Given the description of an element on the screen output the (x, y) to click on. 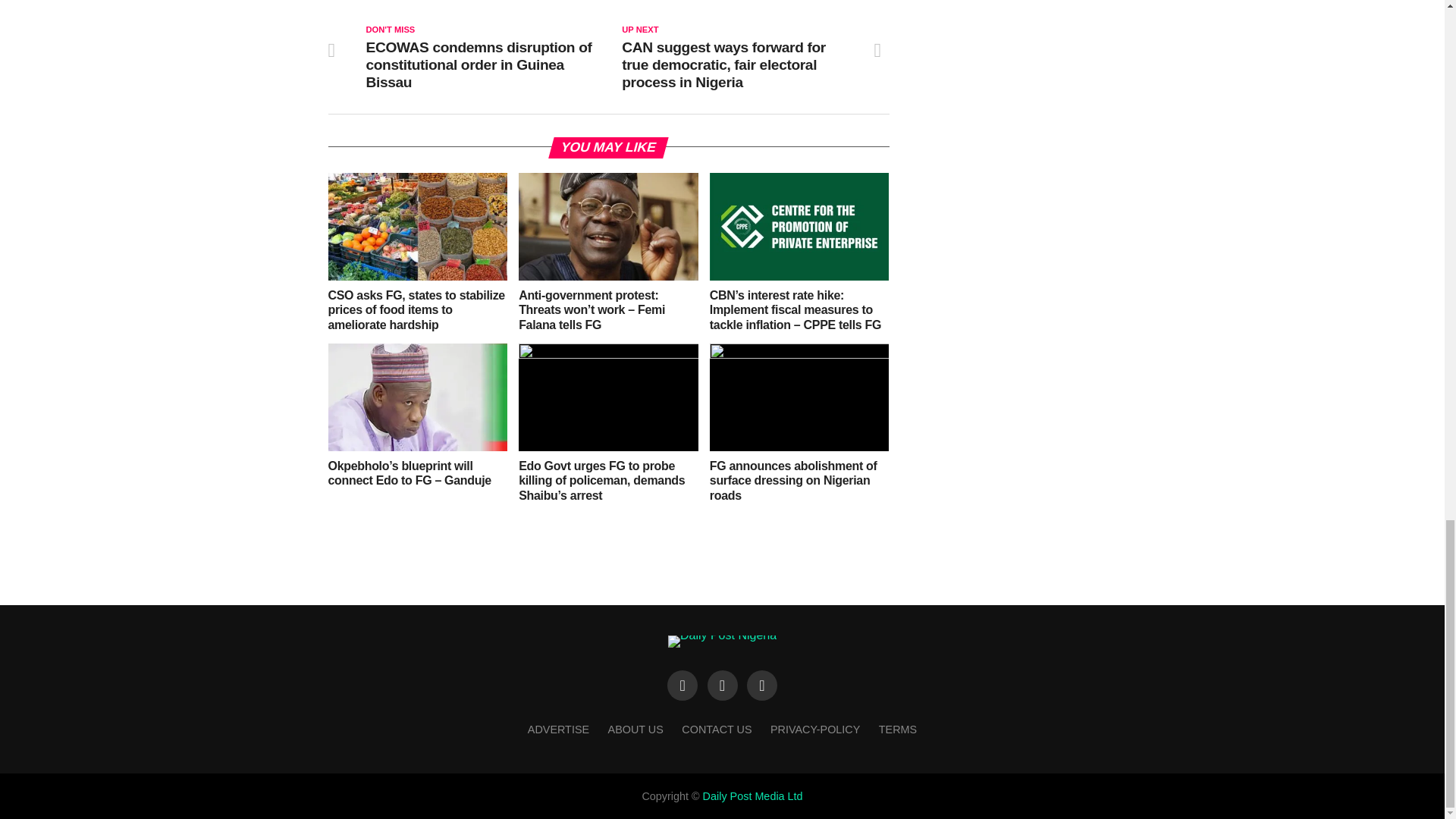
ABOUT US (635, 729)
ADVERTISE (558, 729)
